Given the description of an element on the screen output the (x, y) to click on. 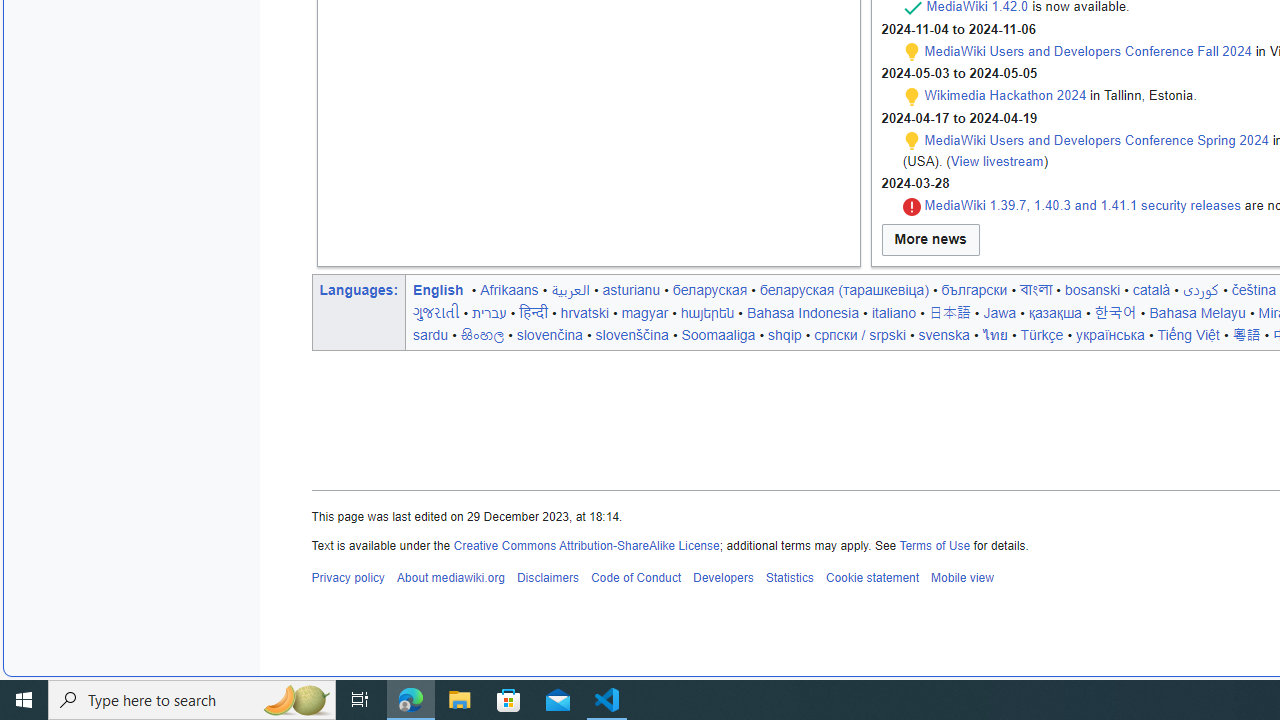
Languages: (358, 289)
sardu (431, 334)
MediaWiki 1.39.7, 1.40.3 and 1.41.1 security releases (1082, 205)
About mediawiki.org (450, 578)
asturianu (630, 289)
Code of Conduct (635, 578)
English (438, 289)
